Given the description of an element on the screen output the (x, y) to click on. 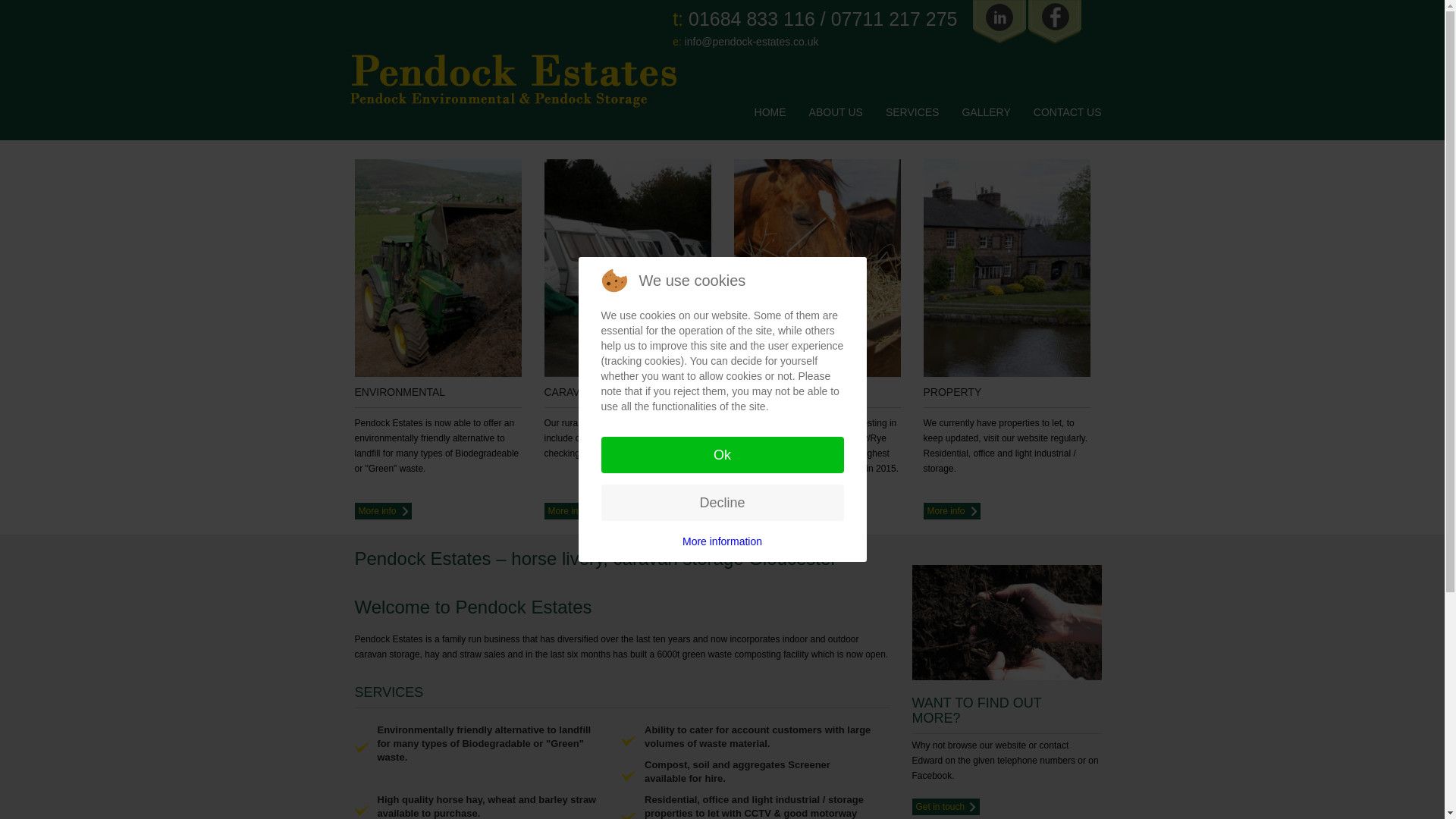
HOME (770, 111)
More info (383, 510)
More info (951, 510)
ABOUT US (836, 111)
CONTACT US (1067, 111)
GALLERY (985, 111)
Get in touch (945, 805)
More info (761, 510)
More information (721, 540)
Ok (721, 454)
